Given the description of an element on the screen output the (x, y) to click on. 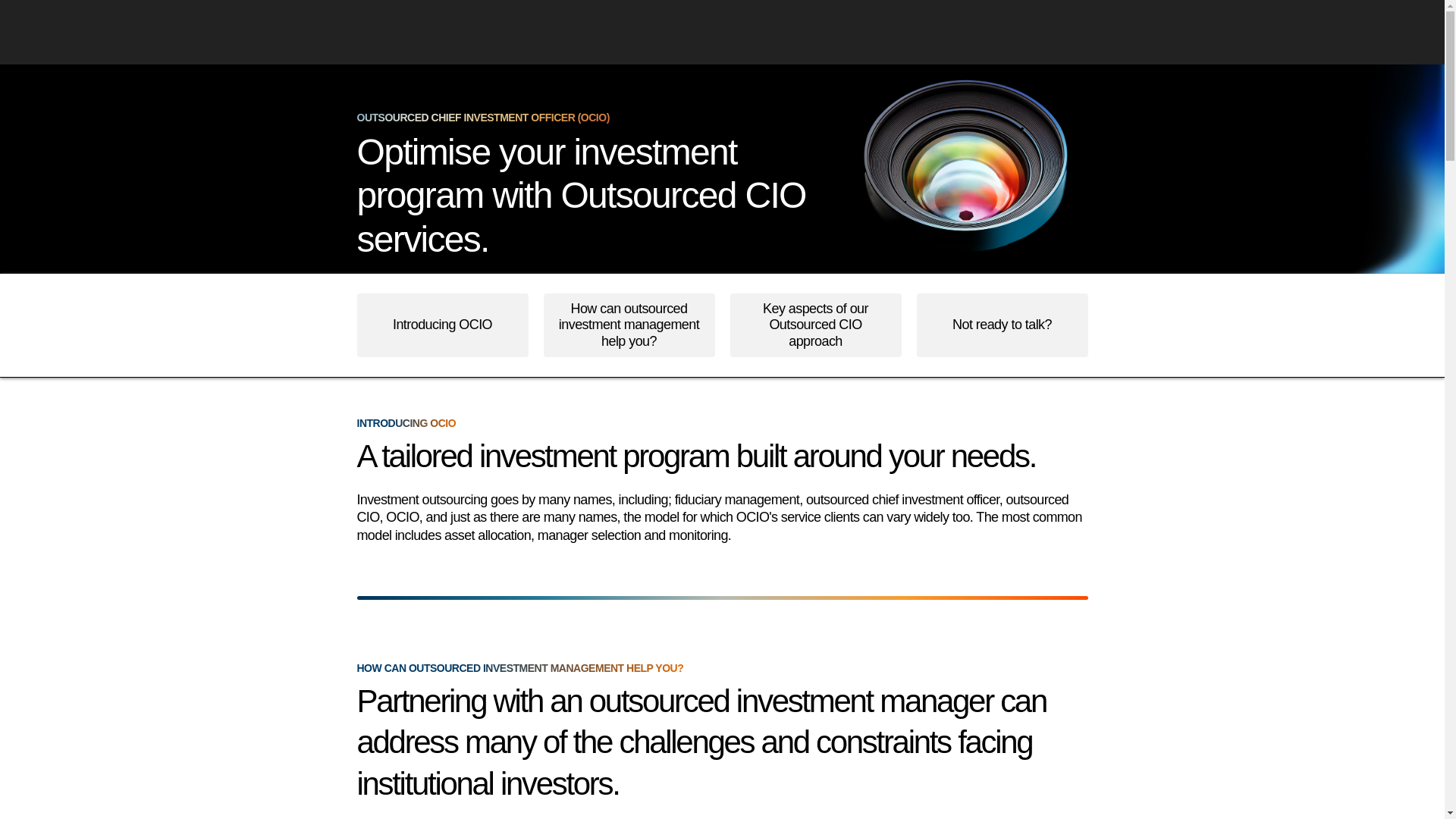
How can outsourced investment management help you? (628, 325)
Not ready to talk? (1001, 325)
Not ready to talk? (1001, 325)
Introducing OCIO (441, 325)
How can outsourced investment management help you? (628, 325)
Key aspects of our Outsourced CIO approach (815, 325)
Introducing OCIO (441, 325)
Key aspects of our Outsourced CIO approach (815, 325)
